Given the description of an element on the screen output the (x, y) to click on. 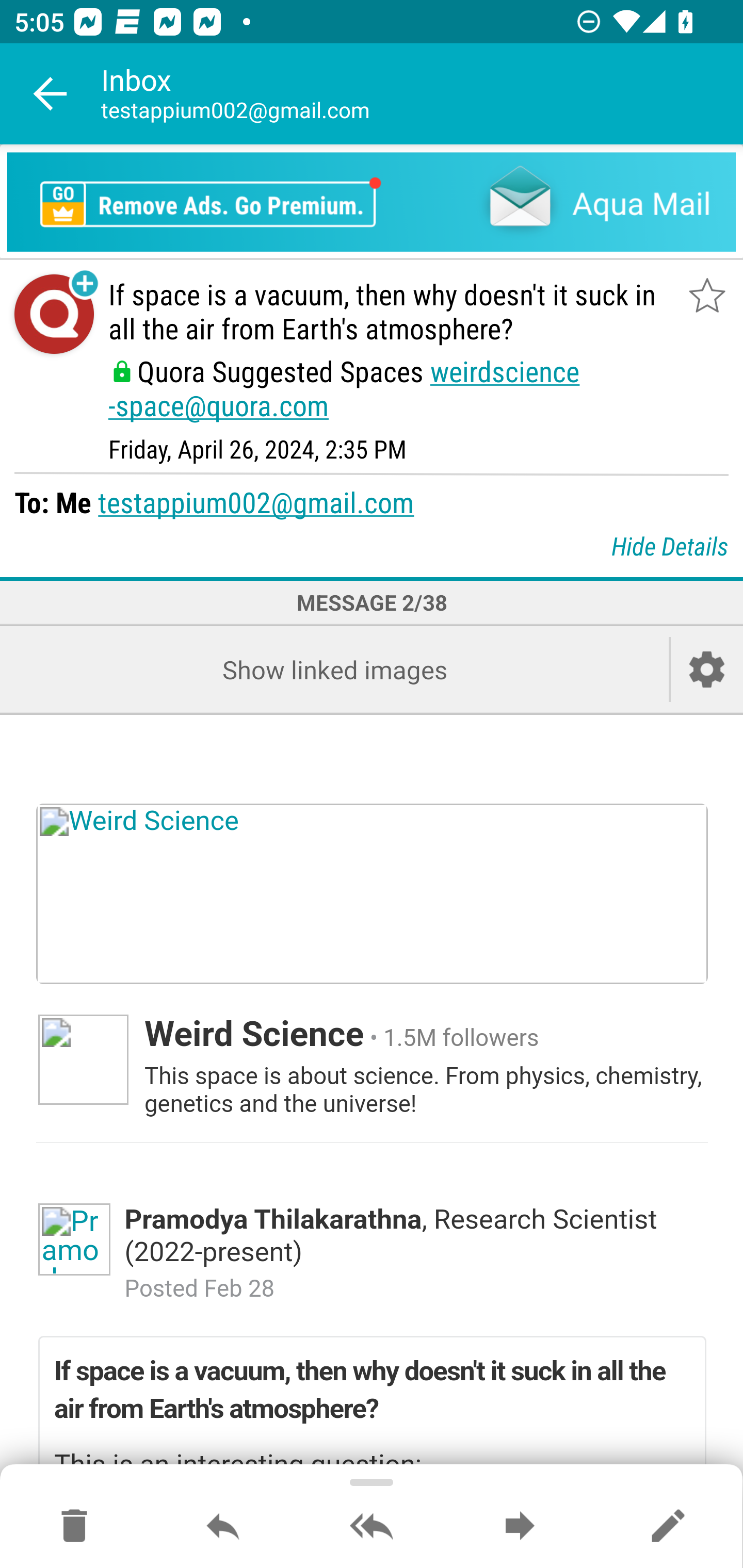
Navigate up (50, 93)
Inbox testappium002@gmail.com (422, 93)
Sender contact button (53, 314)
Show linked images (334, 669)
Account setup (706, 669)
Move to Deleted (74, 1527)
Reply (222, 1527)
Reply all (371, 1527)
Forward (519, 1527)
Reply as new (667, 1527)
